Given the description of an element on the screen output the (x, y) to click on. 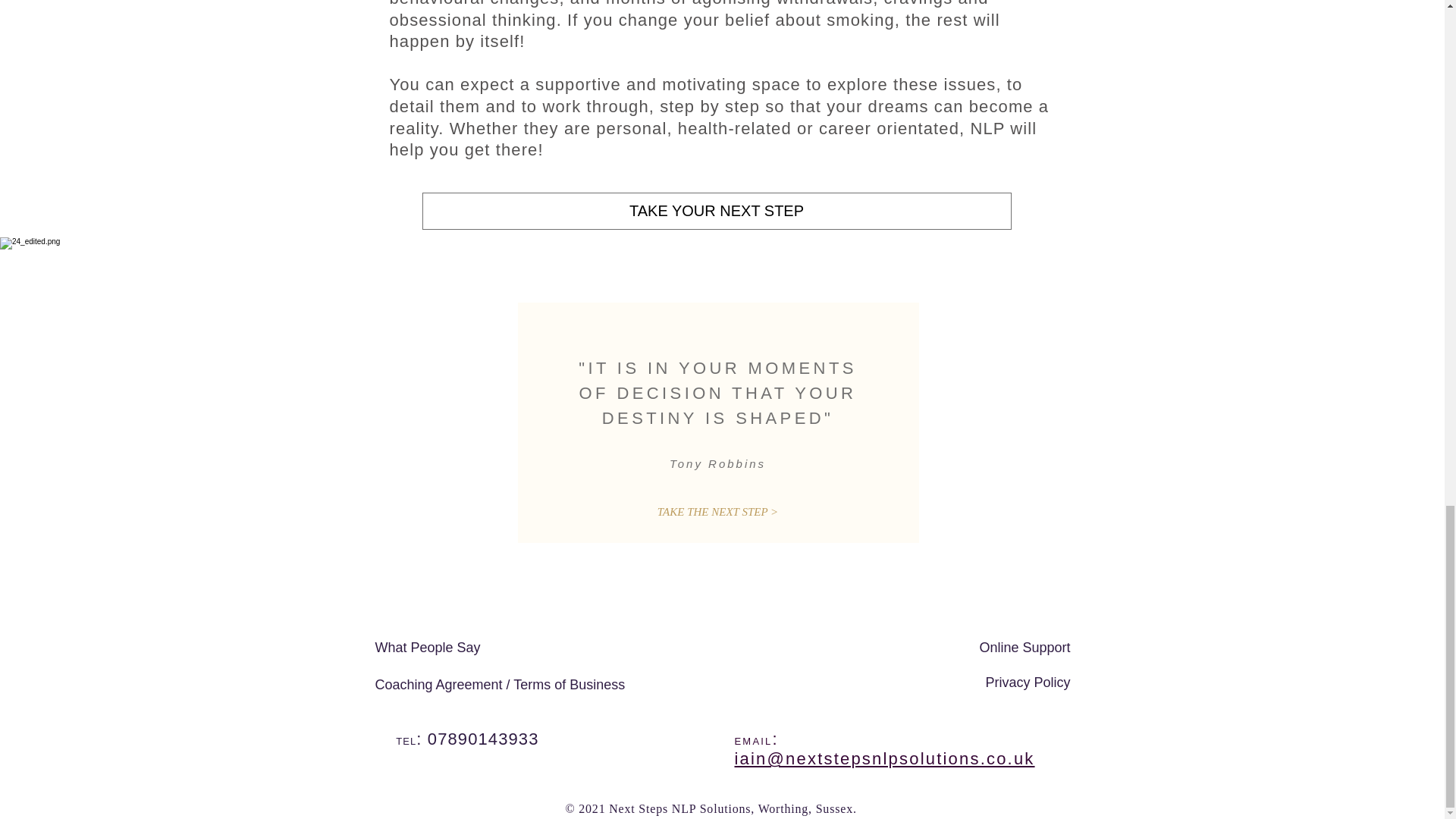
Online Support (1024, 647)
What People Say (427, 647)
TAKE YOUR NEXT STEP (716, 211)
Privacy Policy (1027, 682)
07890143933 (483, 738)
